Given the description of an element on the screen output the (x, y) to click on. 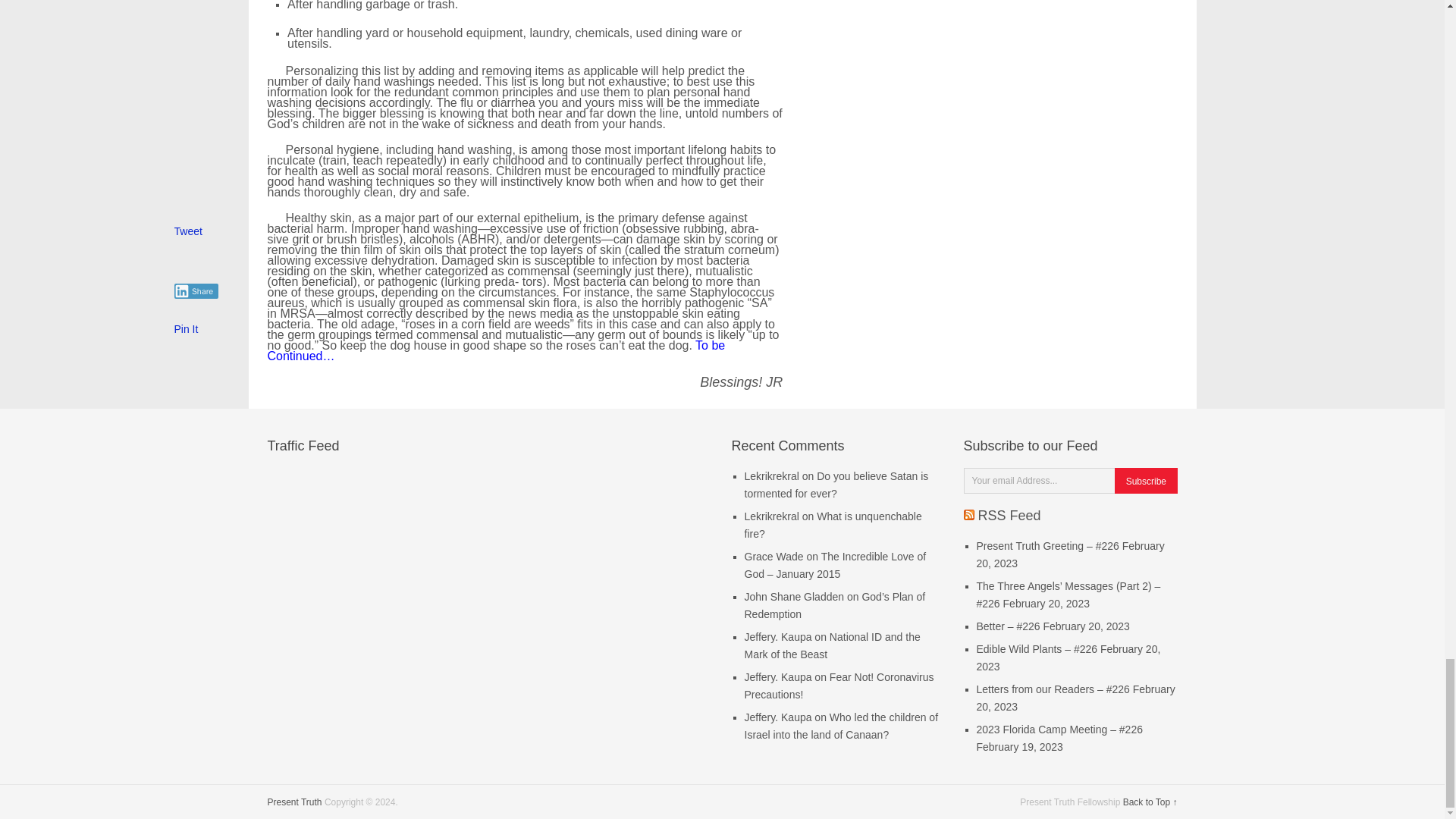
Subscribe (1145, 481)
Your email Address... (1040, 480)
